Given the description of an element on the screen output the (x, y) to click on. 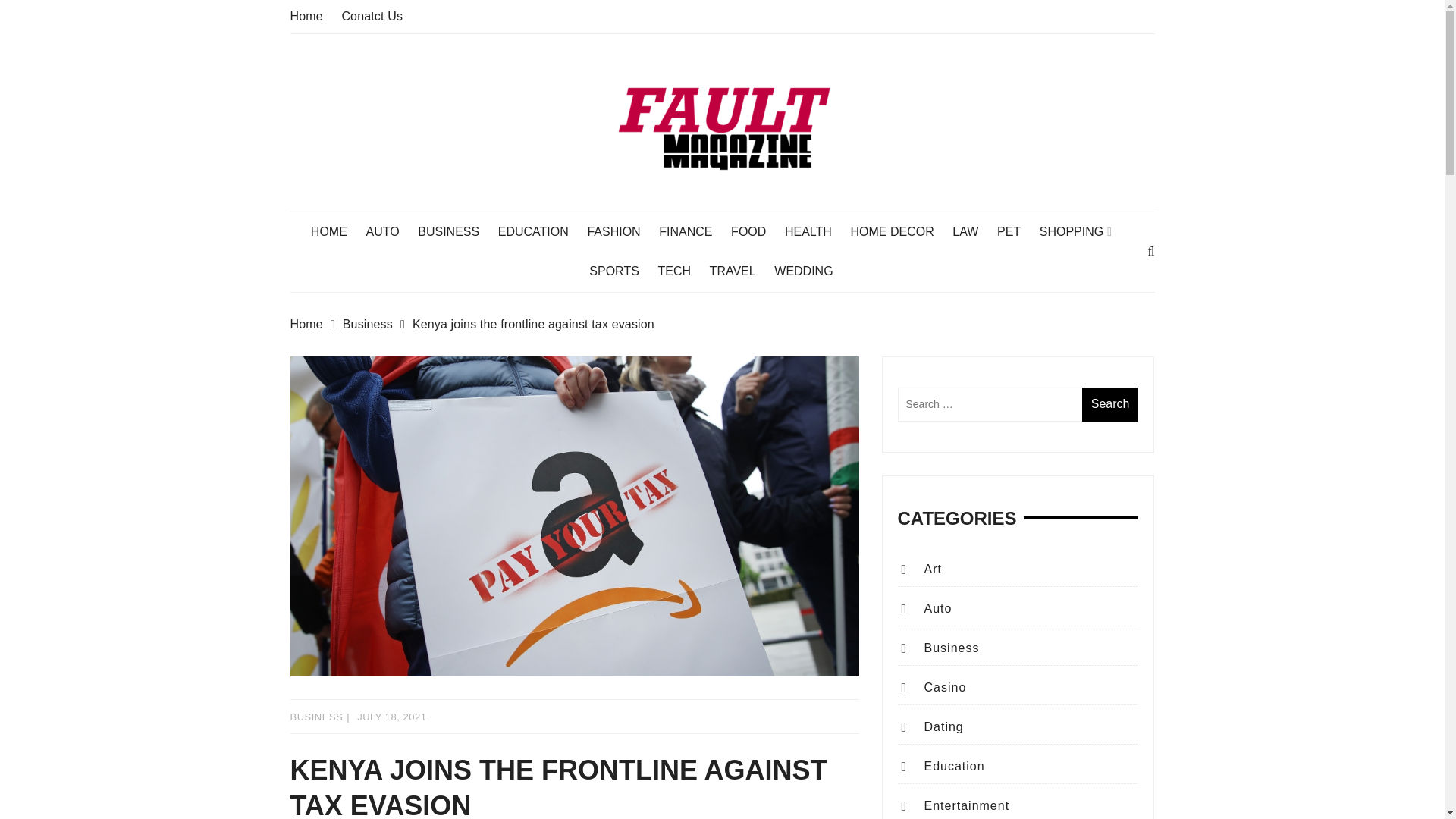
BUSINESS (456, 231)
Search (1109, 404)
WEDDING (810, 271)
HEALTH (815, 231)
Home (305, 16)
LAW (972, 231)
FASHION (620, 231)
HOME (336, 231)
TECH (682, 271)
SPORTS (621, 271)
HOME DECOR (899, 231)
TRAVEL (740, 271)
PET (1016, 231)
Conatct Us (371, 16)
AUTO (389, 231)
